Given the description of an element on the screen output the (x, y) to click on. 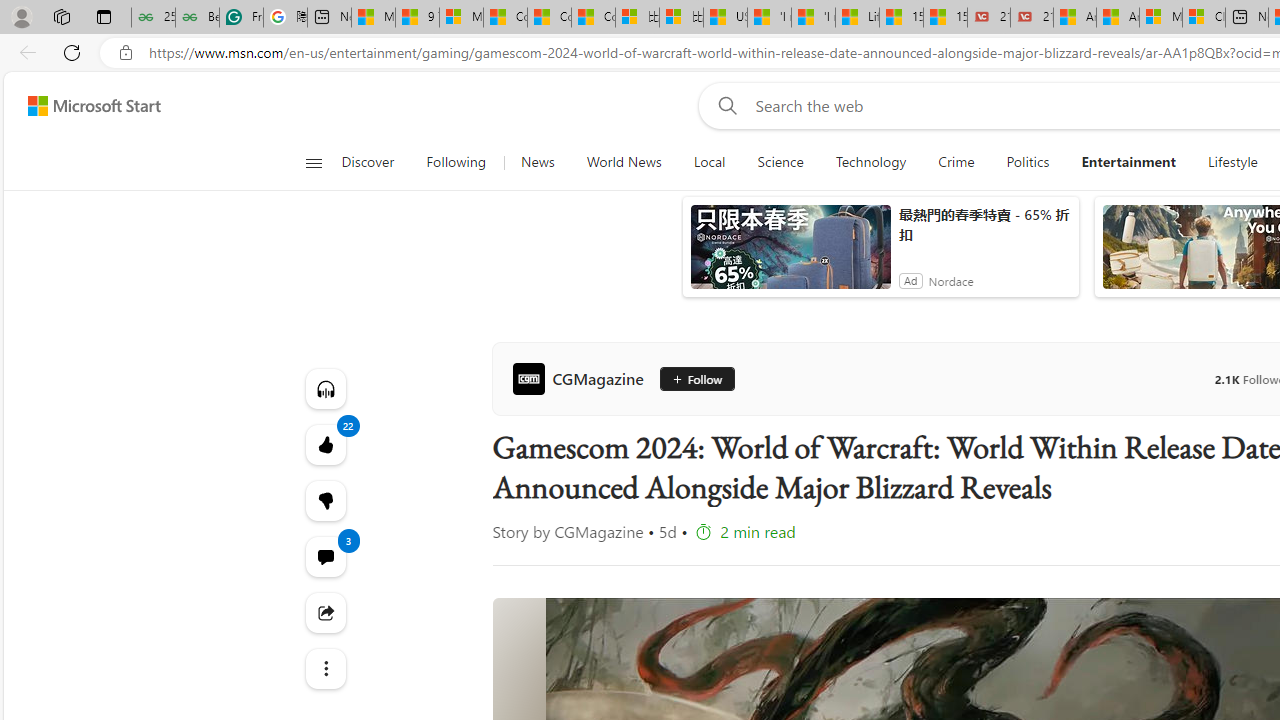
Class: button-glyph (313, 162)
Lifestyle (1233, 162)
Follow (696, 378)
anim-content (789, 255)
Lifestyle (1232, 162)
Science (780, 162)
Local (709, 162)
15 Ways Modern Life Contradicts the Teachings of Jesus (945, 17)
Free AI Writing Assistance for Students | Grammarly (241, 17)
Lifestyle - MSN (857, 17)
